Given the description of an element on the screen output the (x, y) to click on. 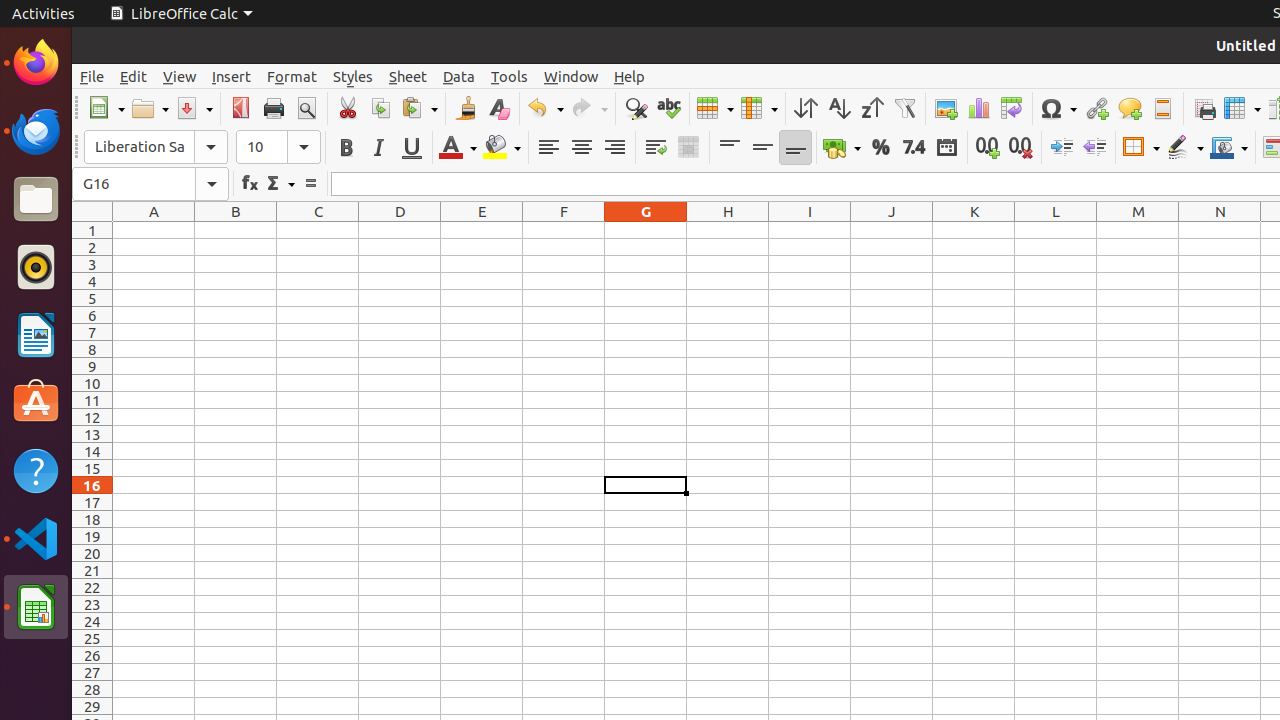
Cut Element type: push-button (347, 108)
Formula Element type: push-button (310, 183)
Print Area Element type: push-button (1203, 108)
Open Element type: push-button (150, 108)
Select Function Element type: push-button (280, 183)
